Given the description of an element on the screen output the (x, y) to click on. 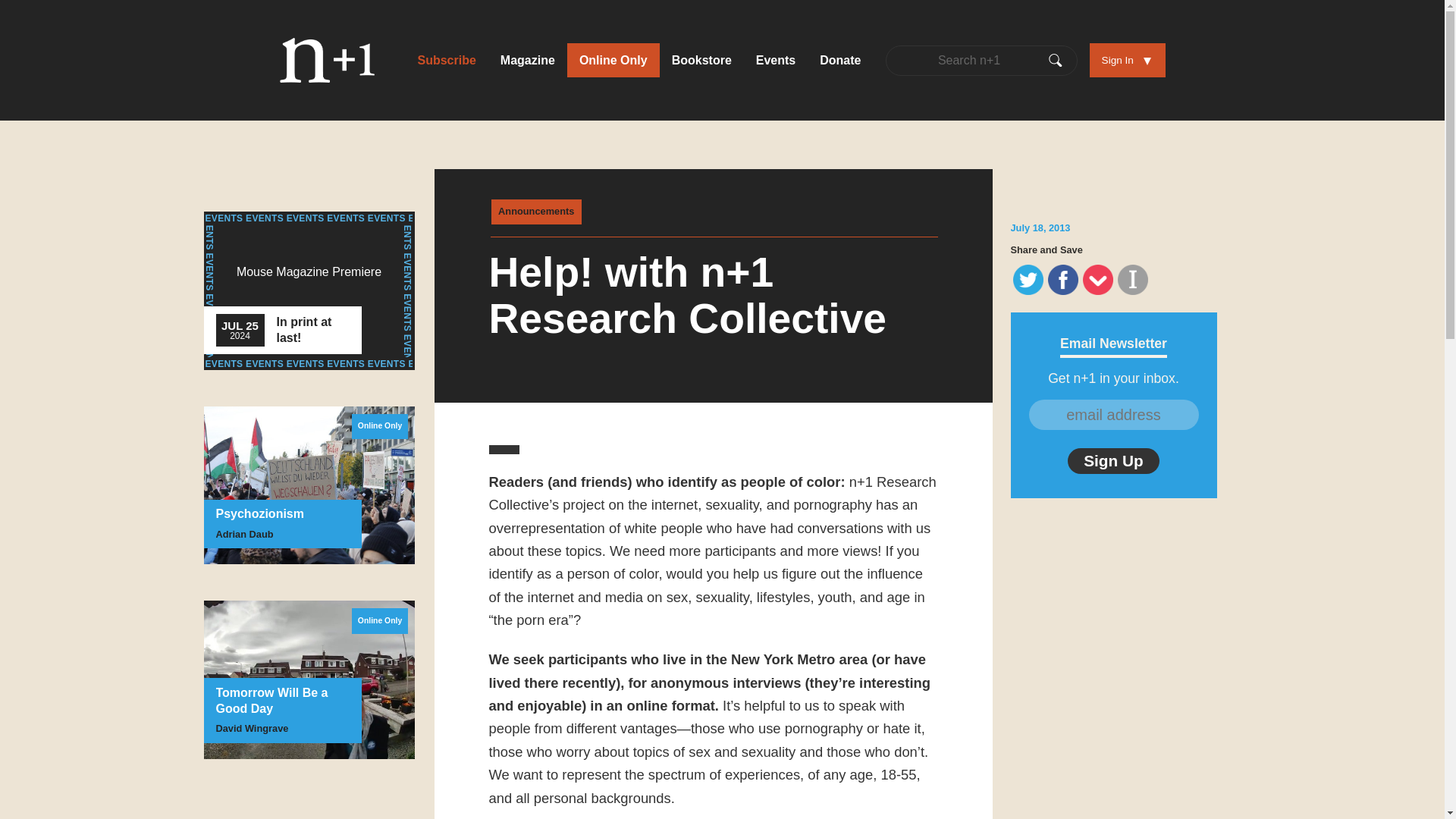
Instapaper (1133, 279)
Pocket (1097, 280)
Announcements (308, 290)
Instapaper (536, 211)
Twitter (1133, 279)
Bookstore (1028, 279)
Sign Up (701, 59)
Latest dispatches (1112, 460)
Facebook (613, 59)
Subscribe (1063, 279)
Twitter (445, 59)
Facebook (1028, 279)
Online Only (1063, 279)
Events (613, 59)
